Given the description of an element on the screen output the (x, y) to click on. 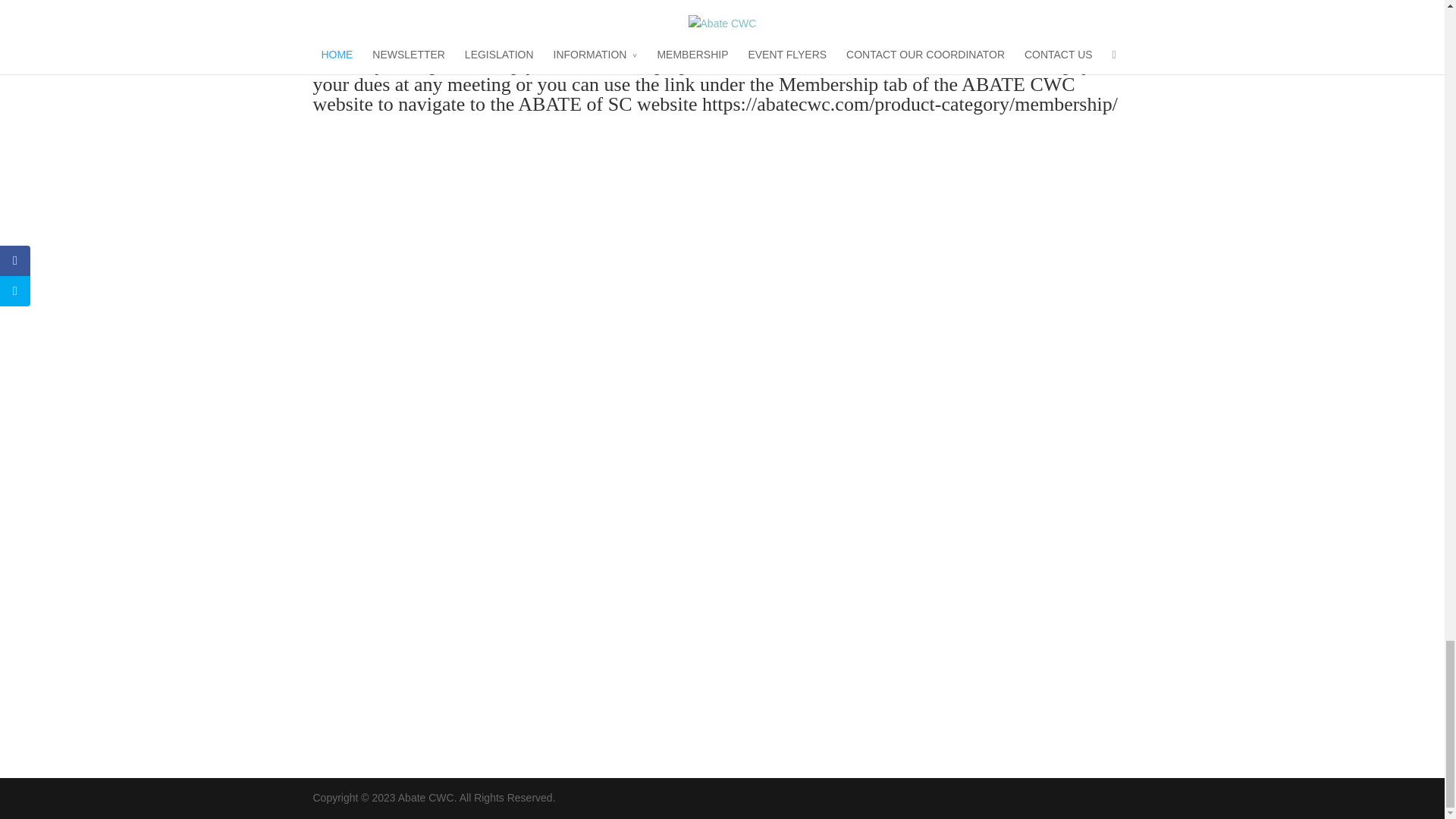
Gone Too Soon - Cheryl's Story (722, 5)
